Given the description of an element on the screen output the (x, y) to click on. 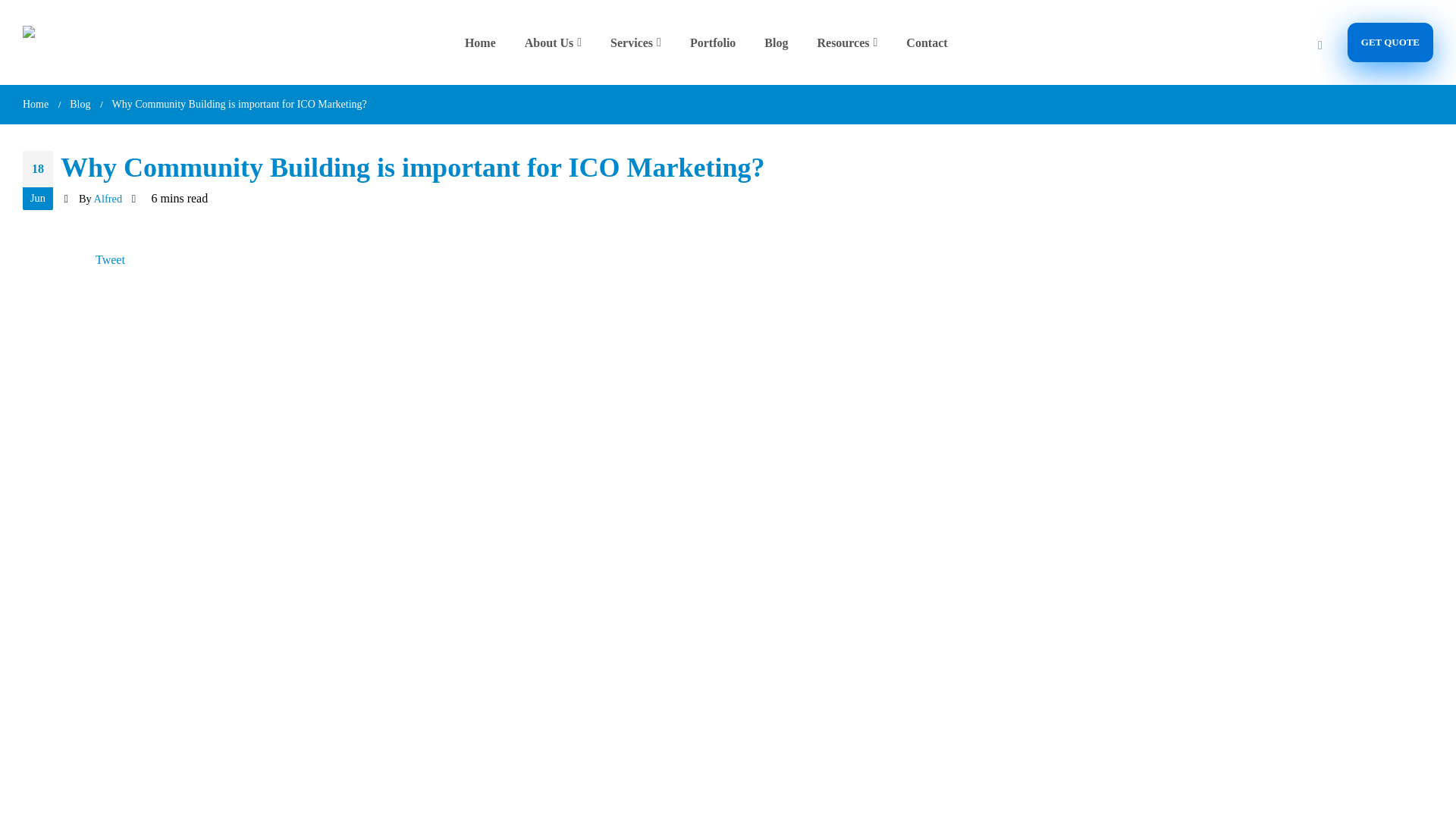
Dot Com Infoway -  (52, 42)
Home (485, 42)
About Us (557, 42)
Posts by Alfred (108, 198)
Services (640, 42)
Go to Home Page (35, 104)
